Given the description of an element on the screen output the (x, y) to click on. 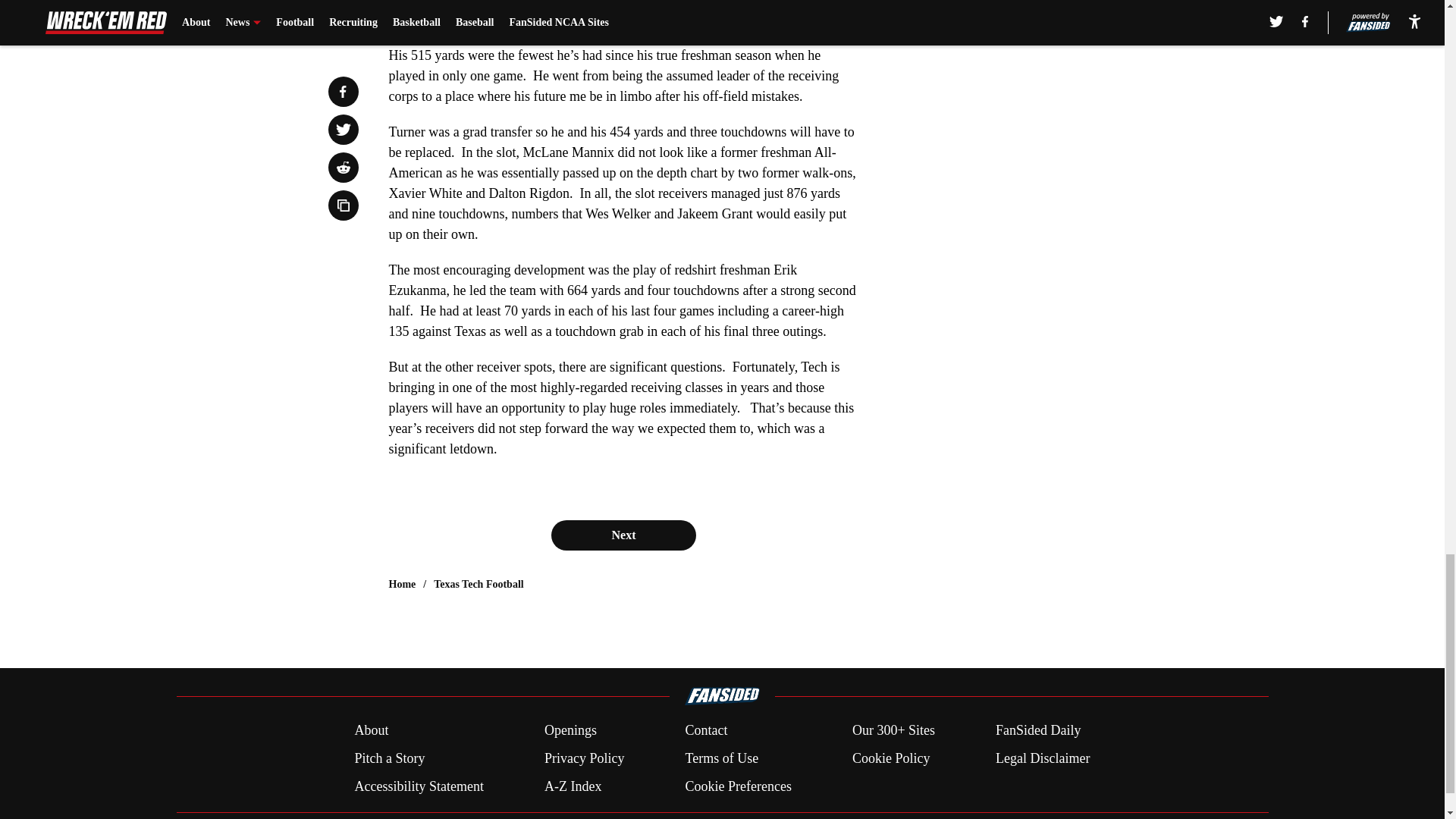
Cookie Policy (890, 758)
Openings (570, 730)
FanSided Daily (1038, 730)
Contact (705, 730)
Legal Disclaimer (1042, 758)
Terms of Use (721, 758)
About (370, 730)
Pitch a Story (389, 758)
Texas Tech Football (478, 584)
Next (622, 535)
